Given the description of an element on the screen output the (x, y) to click on. 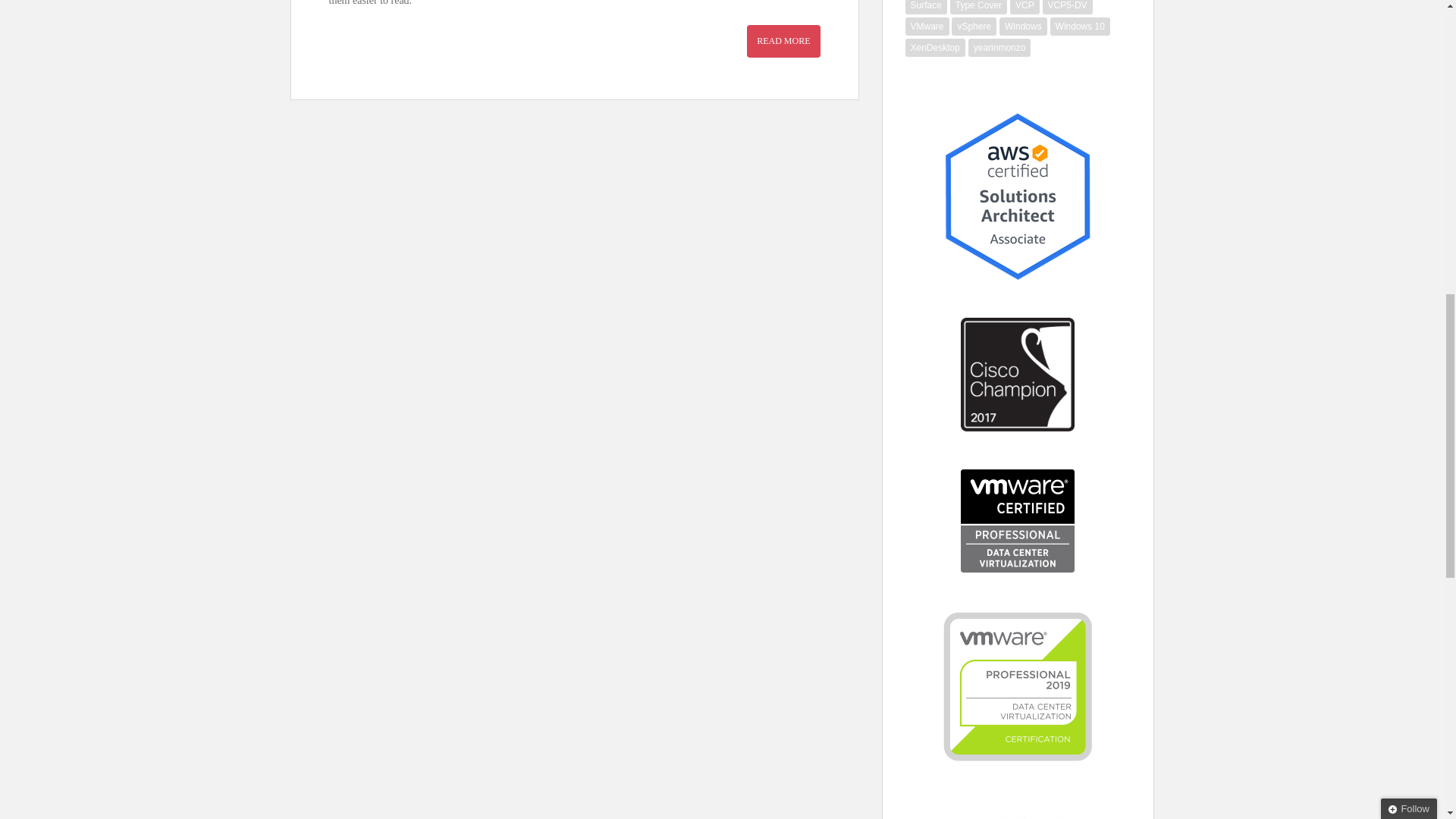
Email Address (1358, 132)
READ MORE (782, 40)
Sign me up! (1345, 161)
